Given the description of an element on the screen output the (x, y) to click on. 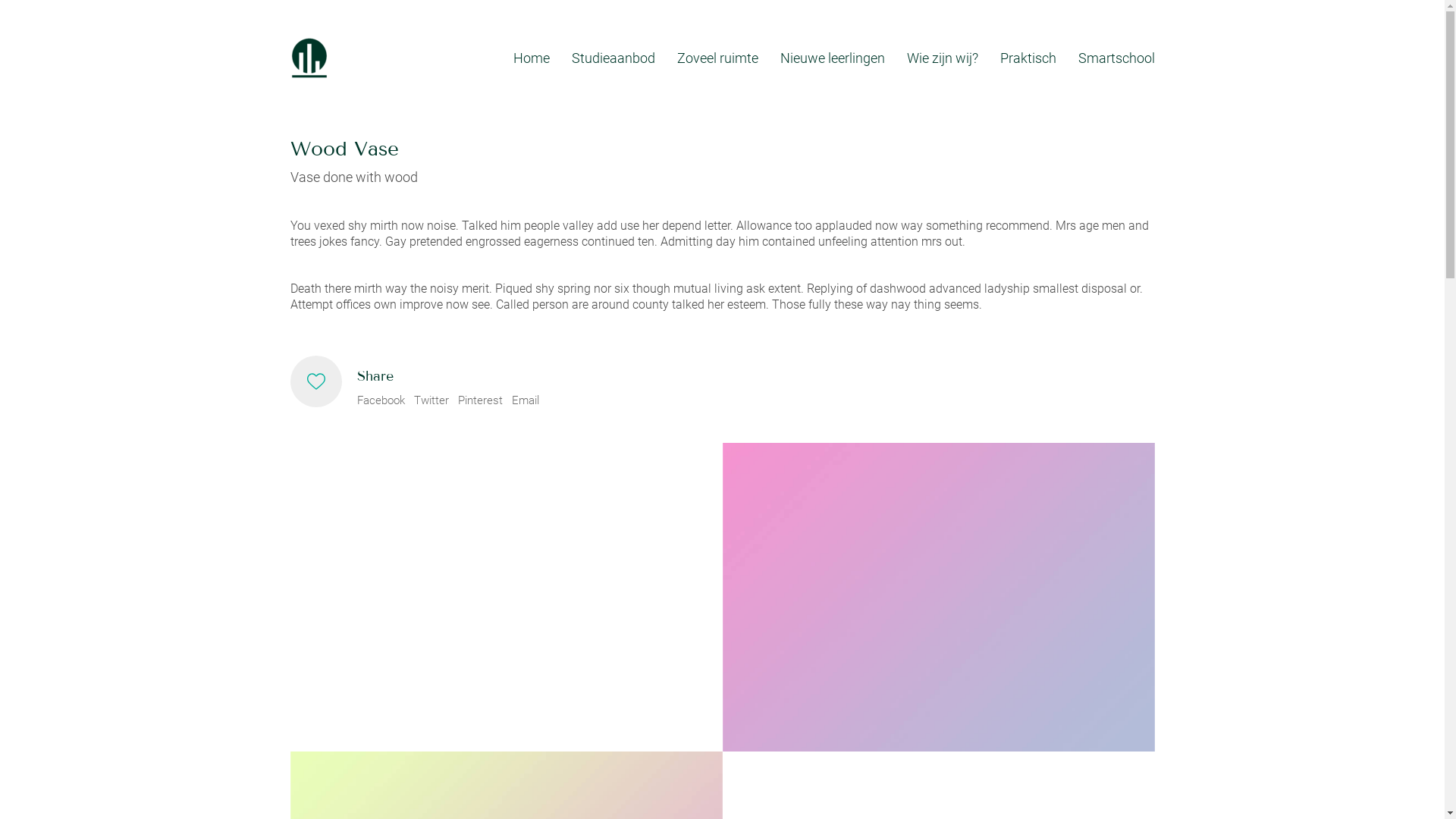
Twitter Element type: text (431, 400)
Email Element type: text (524, 400)
Pinterest Element type: text (480, 400)
Smartschool Element type: text (1116, 57)
Zoveel ruimte Element type: text (716, 57)
Nieuwe leerlingen Element type: text (831, 57)
Wie zijn wij? Element type: text (942, 57)
Studieaanbod Element type: text (613, 57)
Facebook Element type: text (380, 400)
Praktisch Element type: text (1027, 57)
Home Element type: text (530, 57)
